Given the description of an element on the screen output the (x, y) to click on. 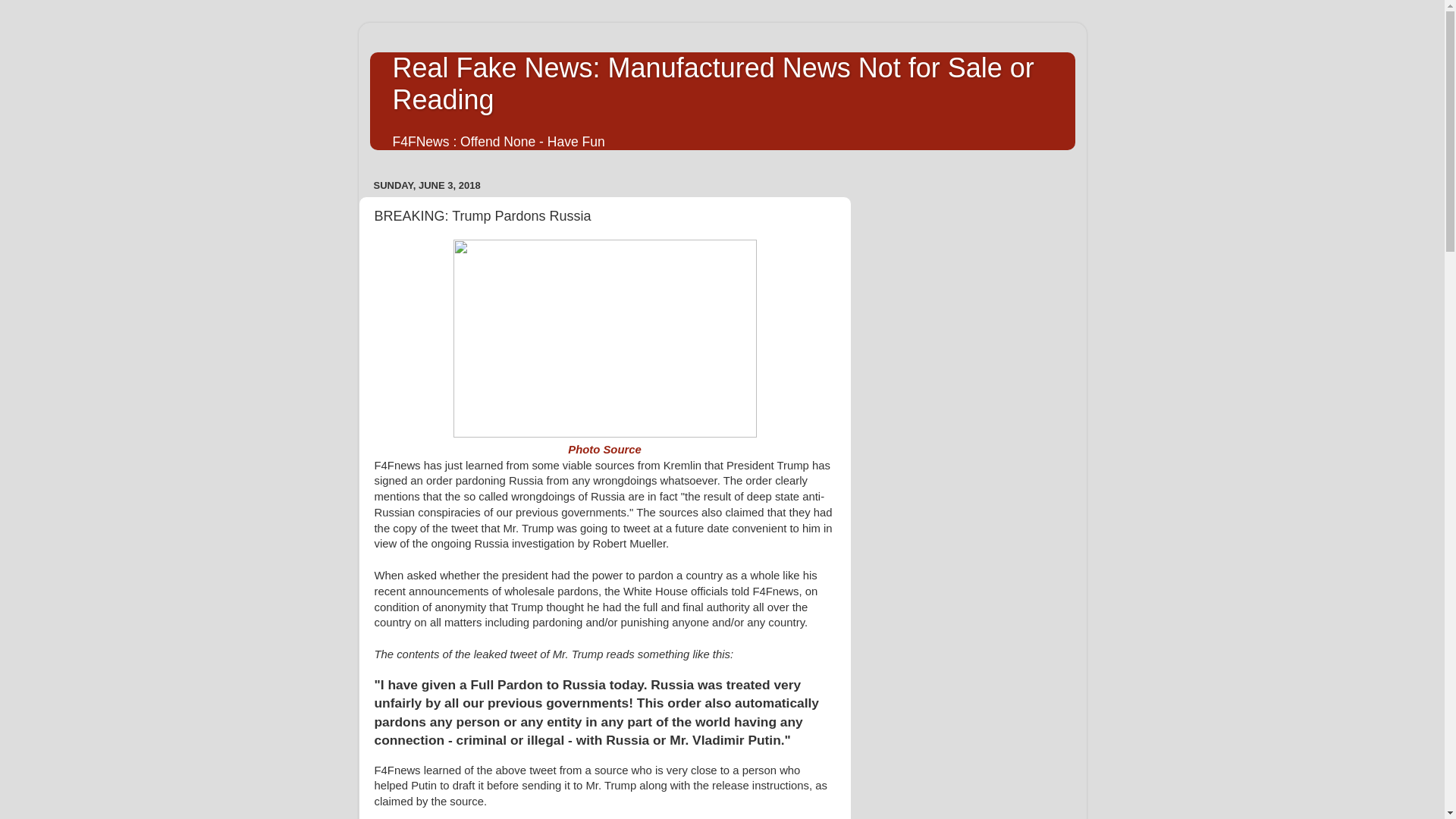
Real Fake News: Manufactured News Not for Sale or Reading (713, 83)
Photo Source (604, 449)
